Given the description of an element on the screen output the (x, y) to click on. 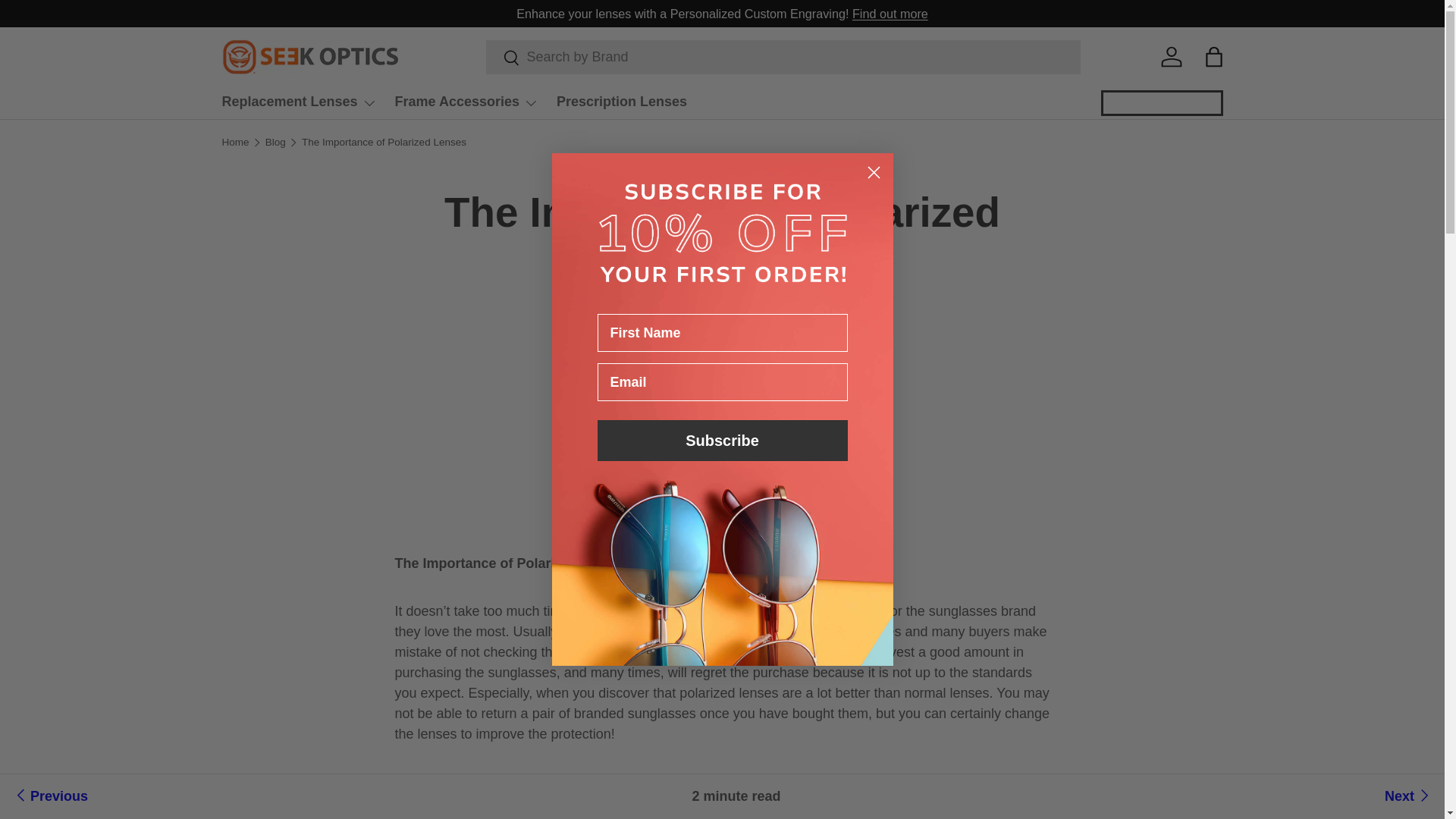
Log in (1171, 56)
Skip to content (69, 22)
Find out more (889, 13)
Search (501, 58)
All that Blue Light! (1408, 796)
Bag (1213, 56)
Personalized Custom Engravings (889, 13)
Replacement Lenses (298, 101)
The Beauty of Interchangeable Lenses (49, 796)
